Given the description of an element on the screen output the (x, y) to click on. 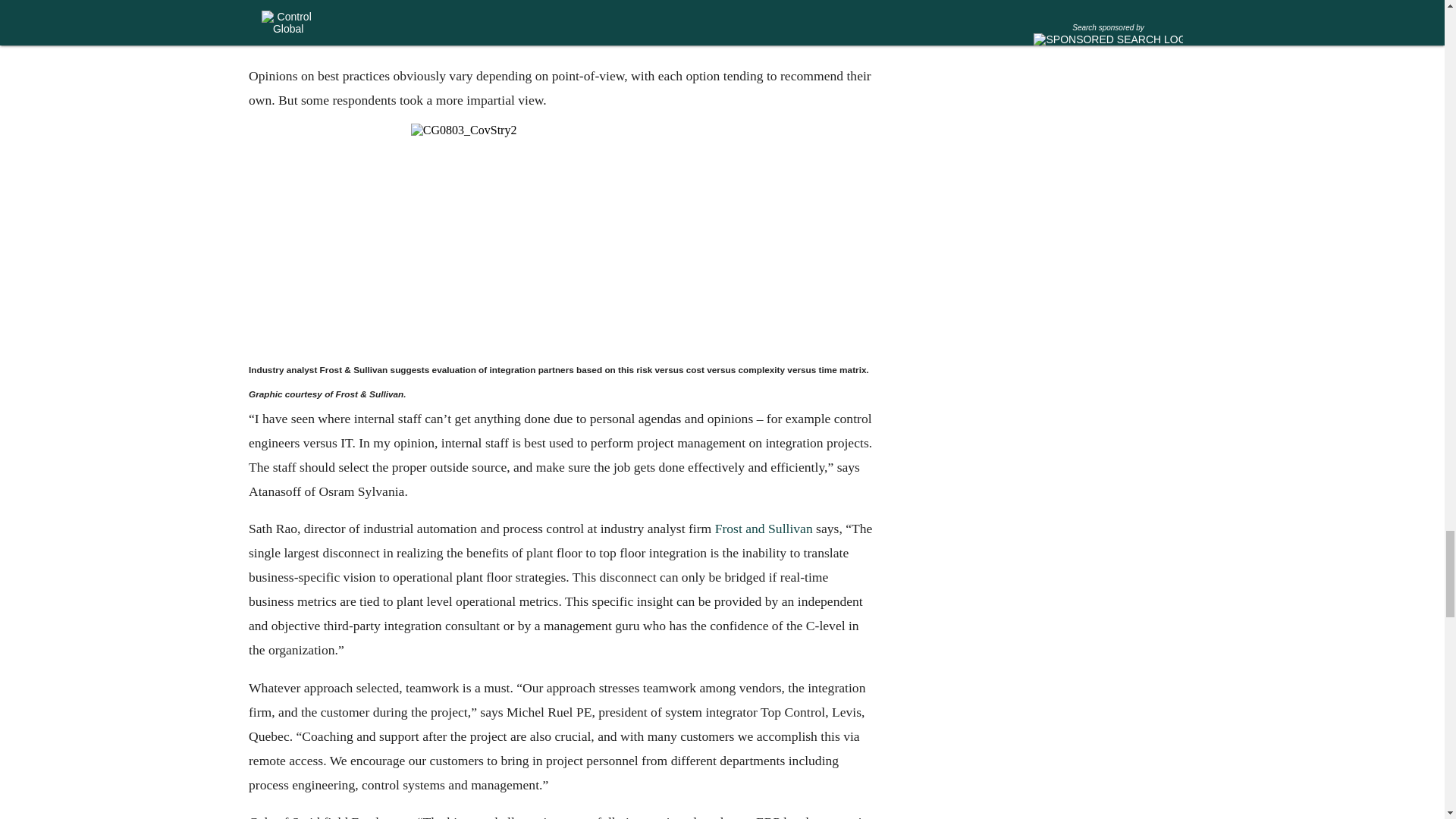
Frost and Sullivan (763, 529)
